Given the description of an element on the screen output the (x, y) to click on. 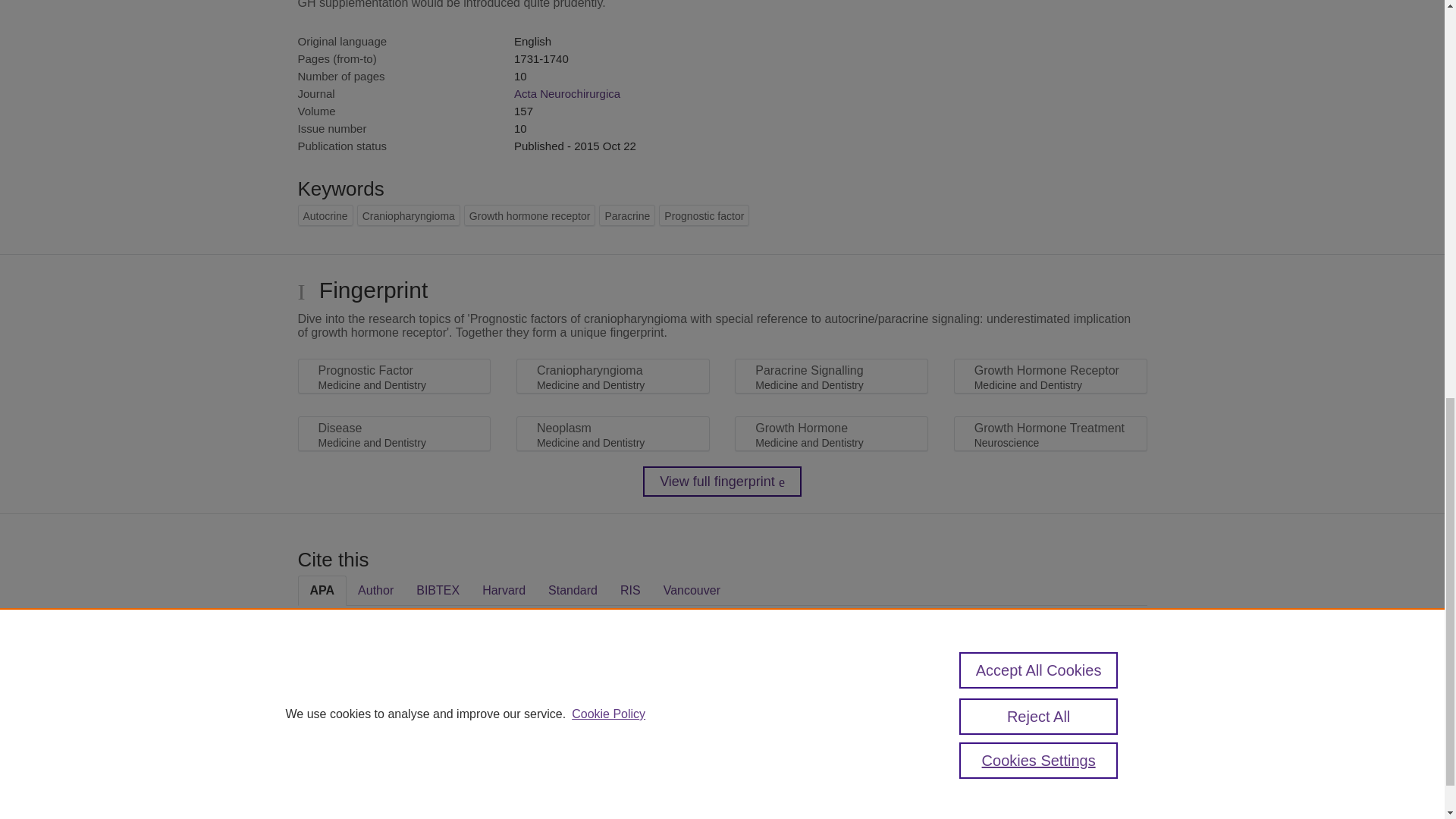
Acta Neurochirurgica (566, 92)
View full fingerprint (722, 481)
Pure (362, 754)
Scopus (394, 754)
Elsevier B.V. (506, 775)
use of cookies (796, 807)
